Given the description of an element on the screen output the (x, y) to click on. 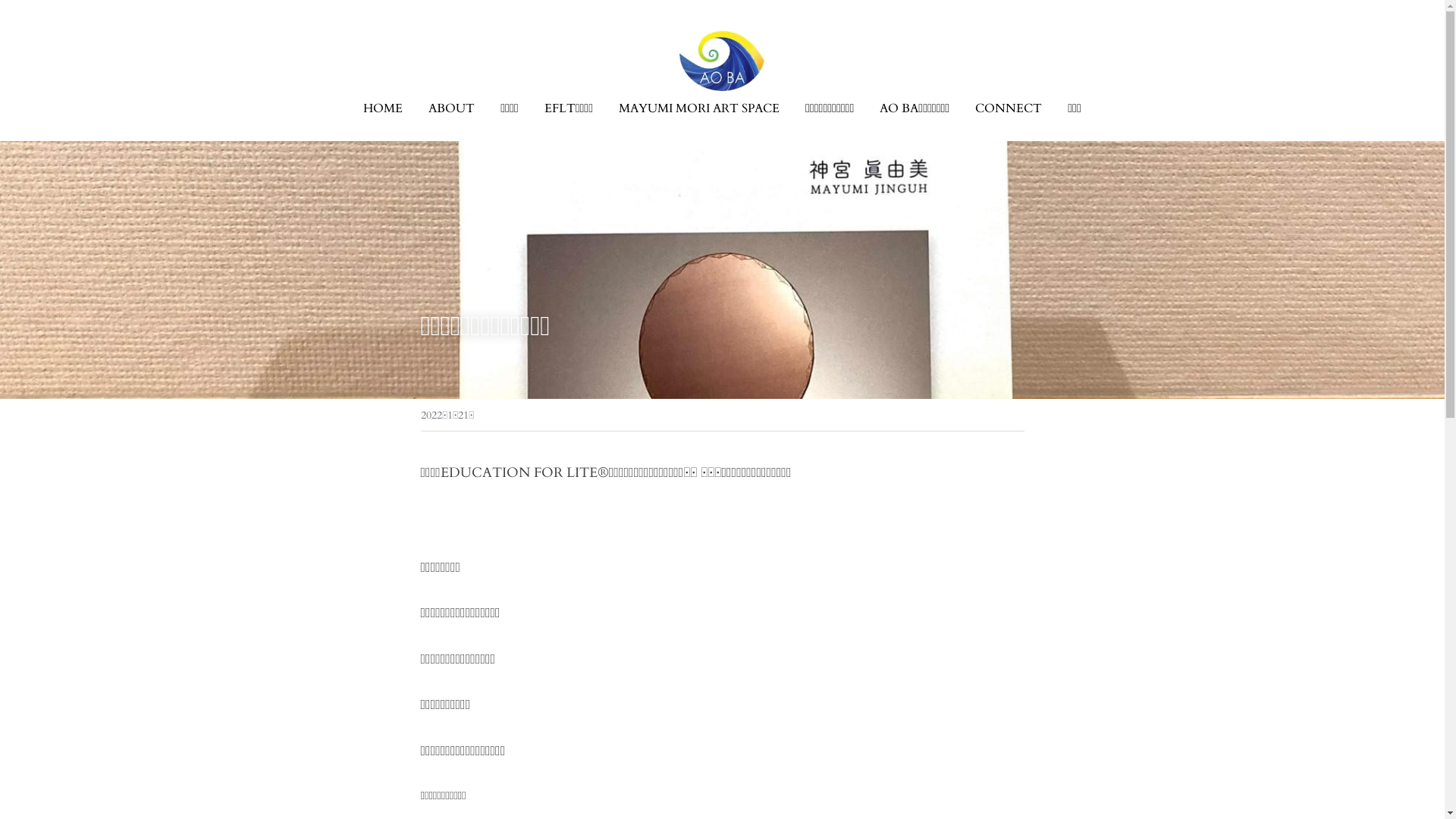
ABOUT Element type: text (451, 108)
HOME Element type: text (382, 108)
CONNECT Element type: text (1008, 108)
MAYUMI MORI ART SPACE Element type: text (698, 108)
